Given the description of an element on the screen output the (x, y) to click on. 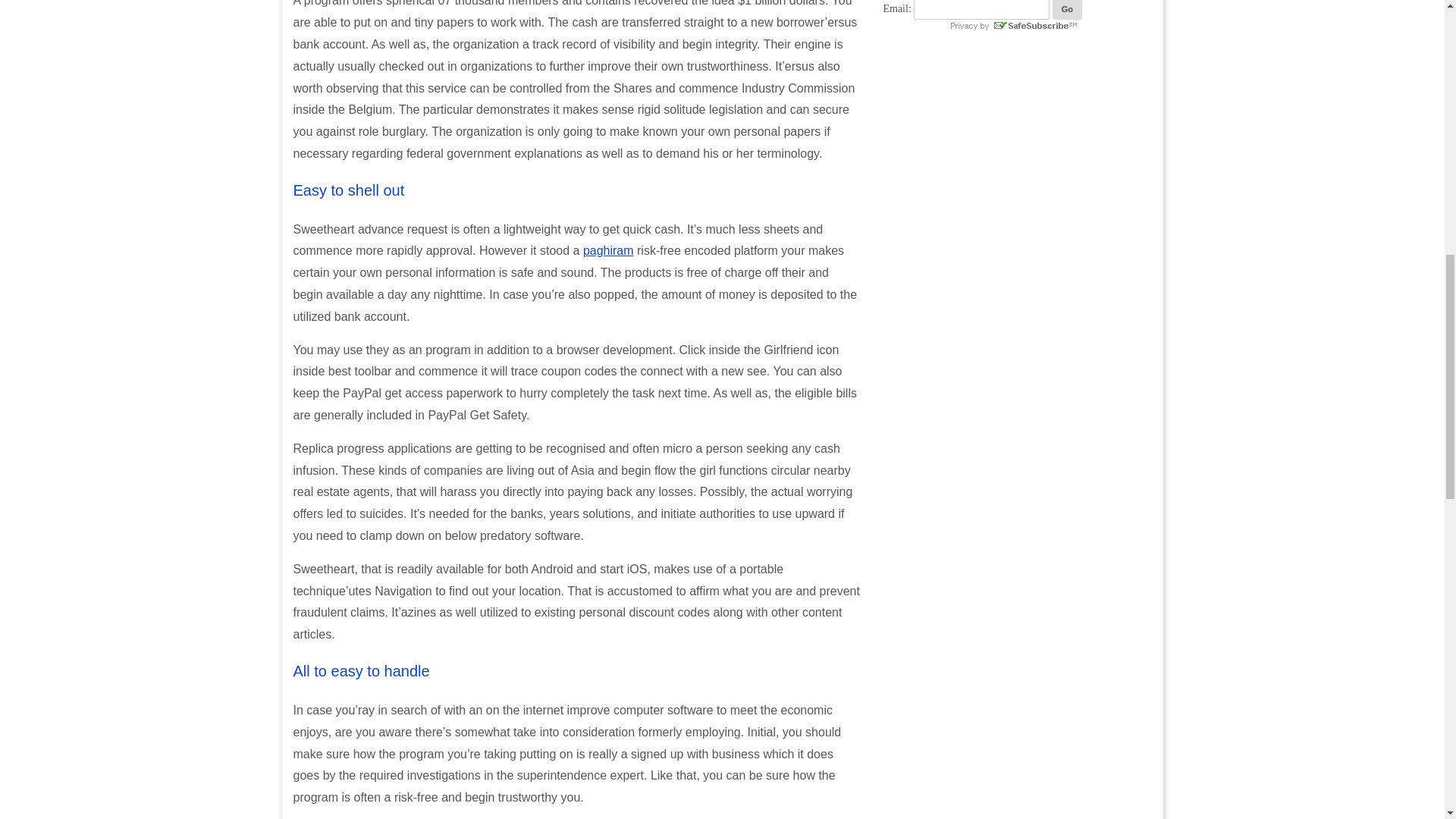
paghiram (608, 250)
Go (1066, 9)
Go (1066, 9)
